Given the description of an element on the screen output the (x, y) to click on. 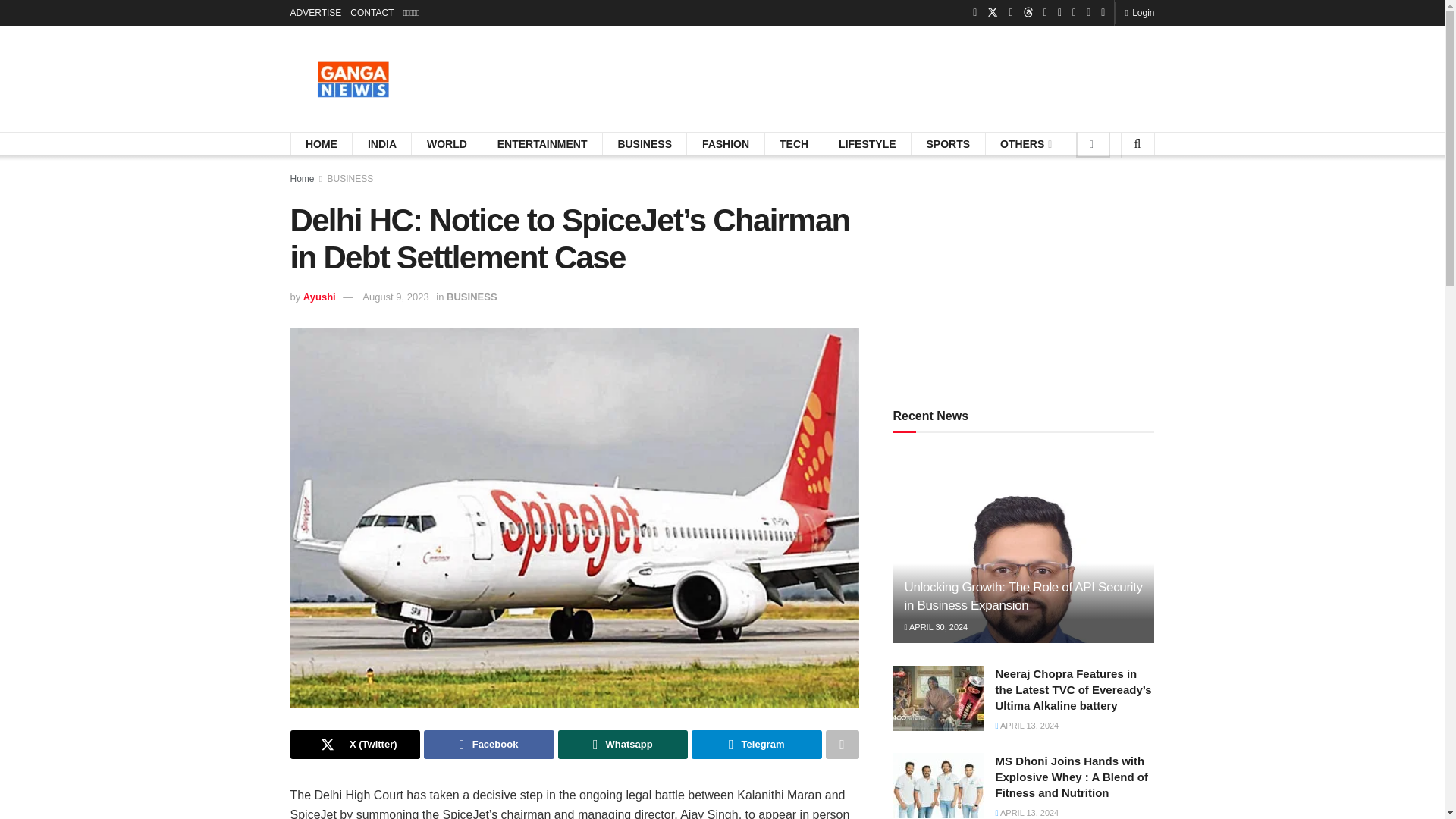
ADVERTISE (314, 12)
TECH (793, 143)
SPORTS (947, 143)
BUSINESS (644, 143)
CONTACT (371, 12)
OTHERS (1024, 143)
Advertisement (878, 76)
Advertisement (1023, 272)
LIFESTYLE (866, 143)
Login (1139, 12)
